Given the description of an element on the screen output the (x, y) to click on. 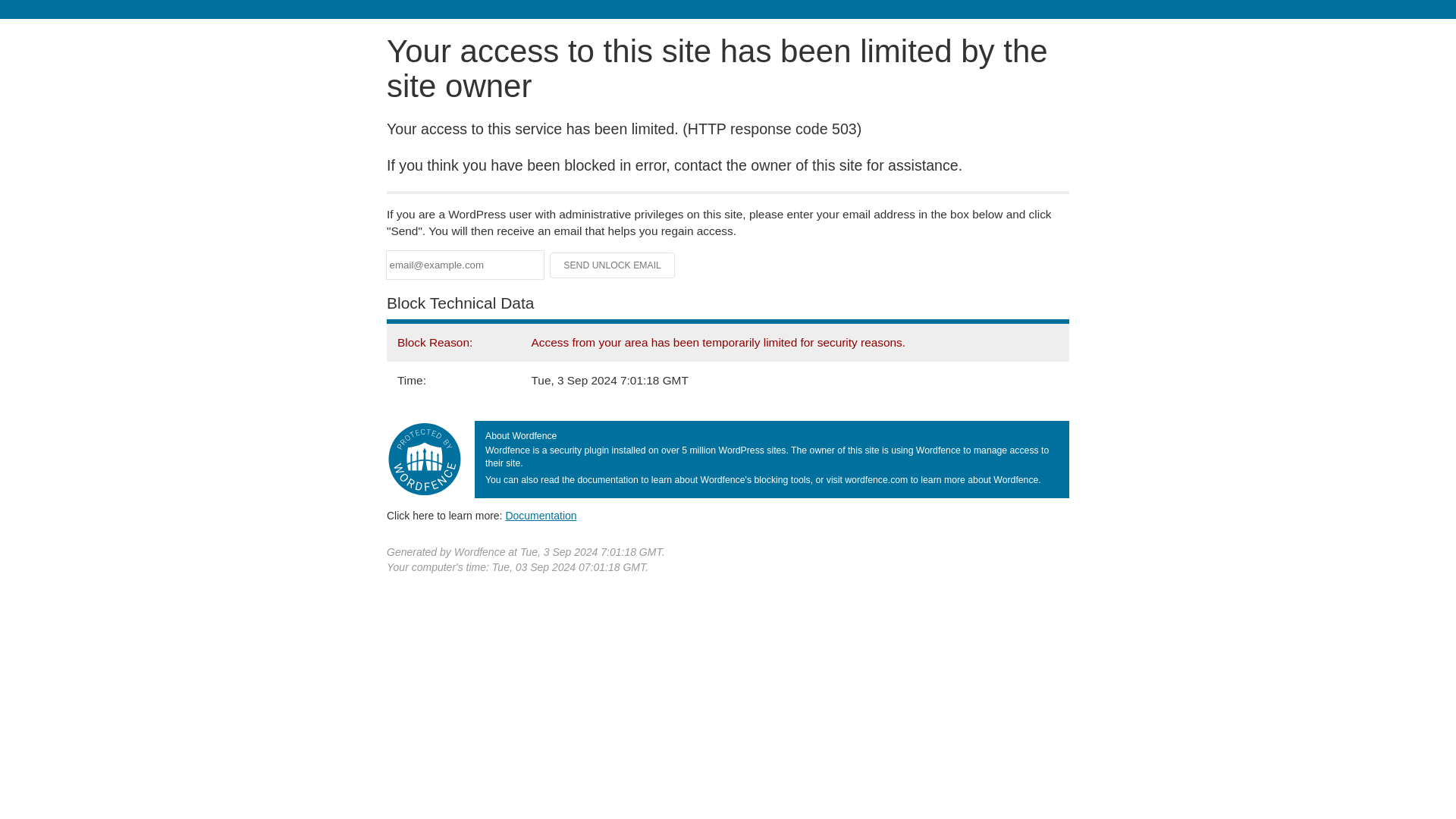
Send Unlock Email (612, 265)
Documentation (540, 515)
Send Unlock Email (612, 265)
